Given the description of an element on the screen output the (x, y) to click on. 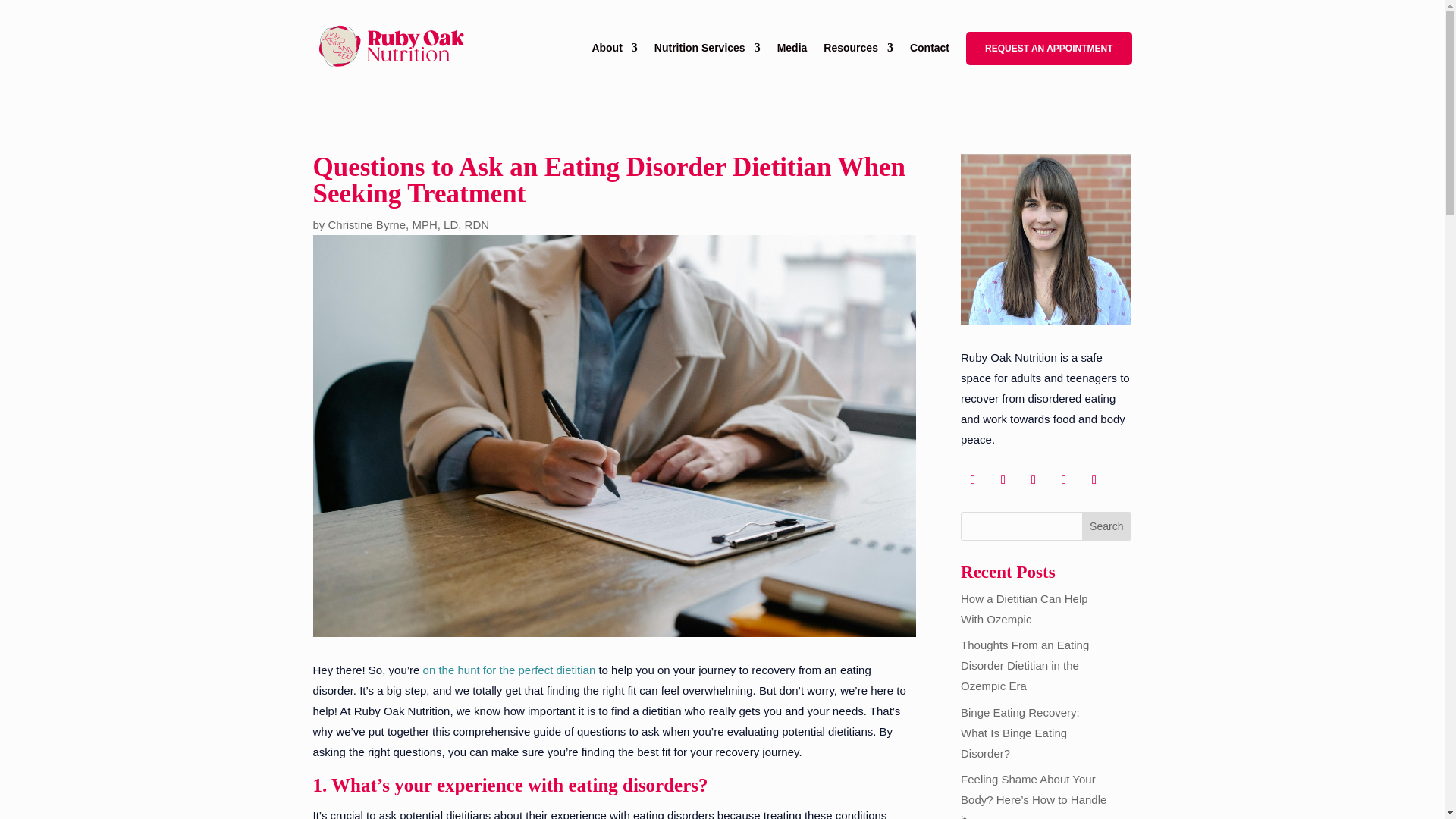
Follow on LinkedIn (1063, 479)
Follow on Pinterest (1093, 479)
Nutrition Services (706, 67)
Search (1106, 525)
Resources (858, 67)
REQUEST AN APPOINTMENT (1048, 48)
Posts by Christine Byrne, MPH, LD, RDN (409, 224)
About (614, 67)
Follow on Instagram (1033, 479)
Follow on Facebook (972, 479)
Search (1106, 525)
Follow on X (1002, 479)
Christine Byrne Headshot (1045, 238)
